Given the description of an element on the screen output the (x, y) to click on. 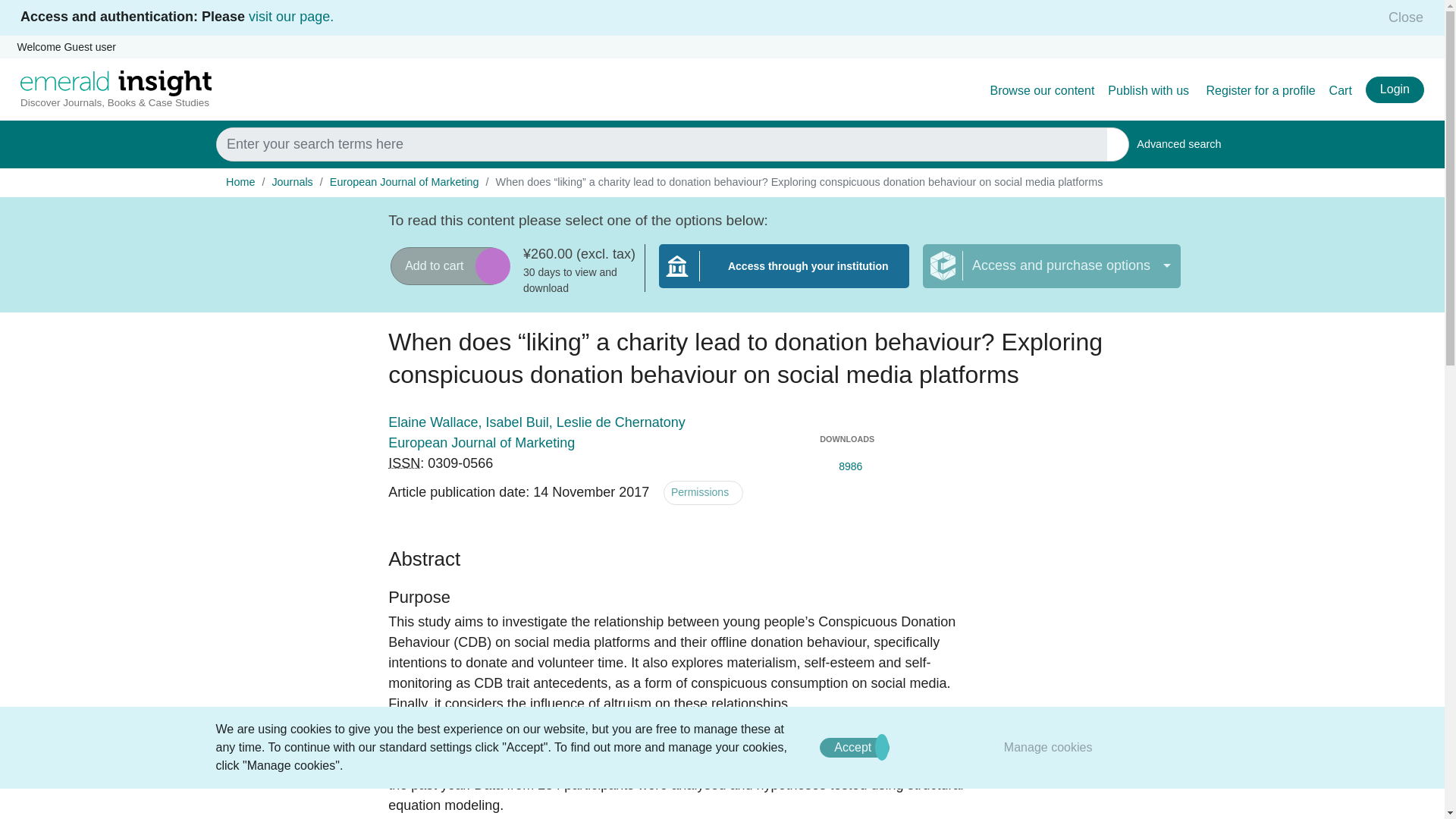
Accept (853, 747)
Publish with us (1150, 90)
Close (1401, 17)
International Standard Serial Number. (404, 462)
Access through your institution (783, 275)
Home (239, 182)
visit our page. (290, 16)
Register for a profile (1261, 90)
Cart (1178, 144)
Browse our content (1340, 90)
Login (1042, 90)
Manage cookies (1394, 89)
